Given the description of an element on the screen output the (x, y) to click on. 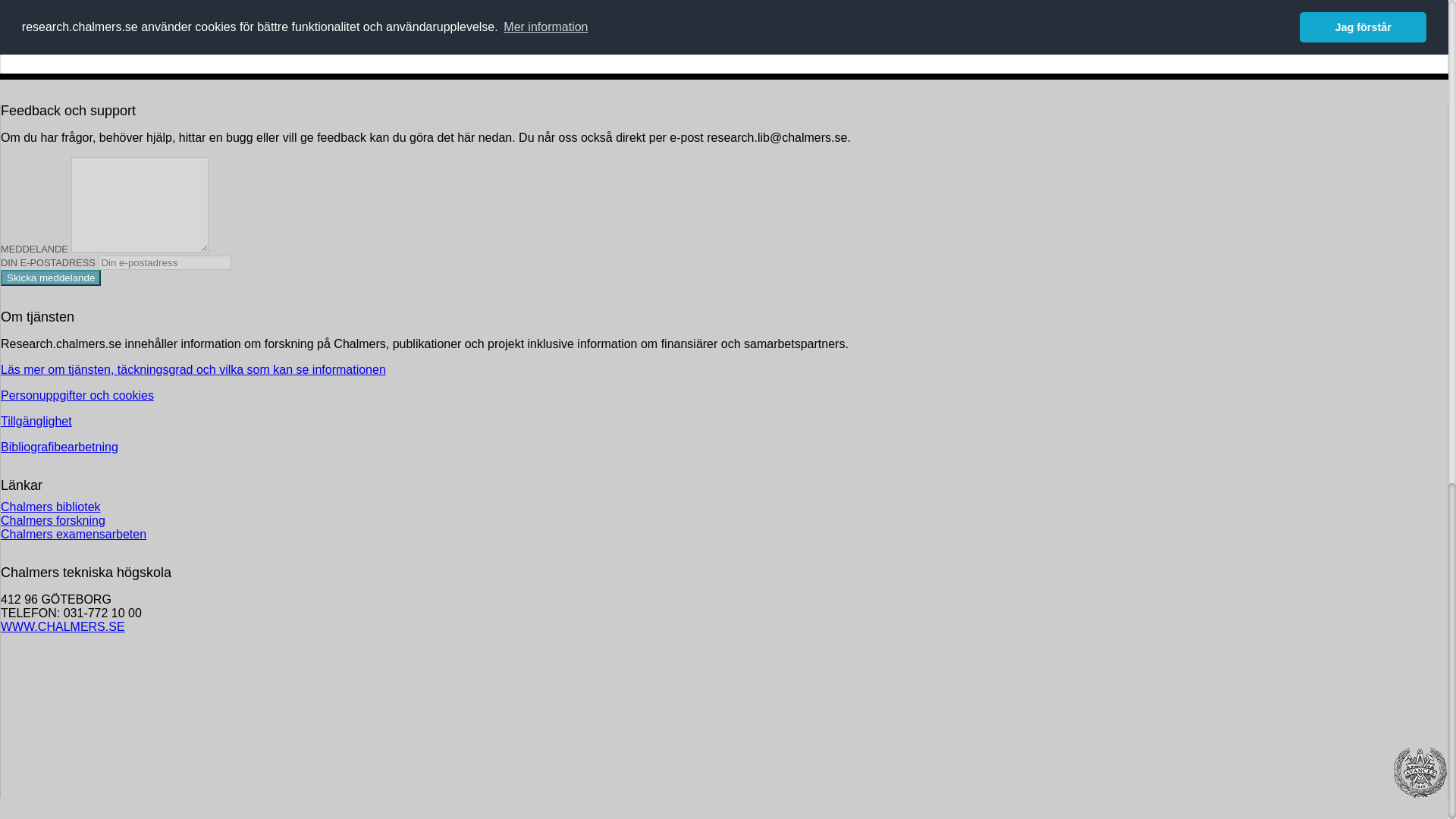
Skicka meddelande (50, 277)
Skicka (50, 277)
Chalmers bibliotek (50, 506)
E-mail (165, 262)
Skicka meddelande (50, 277)
WWW.CHALMERS.SE (63, 626)
Feedback textbox (139, 204)
Chalmers examensarbeten (74, 533)
Bibliografibearbetning (59, 446)
Personuppgifter och cookies (77, 395)
Chalmers forskning (52, 520)
